Given the description of an element on the screen output the (x, y) to click on. 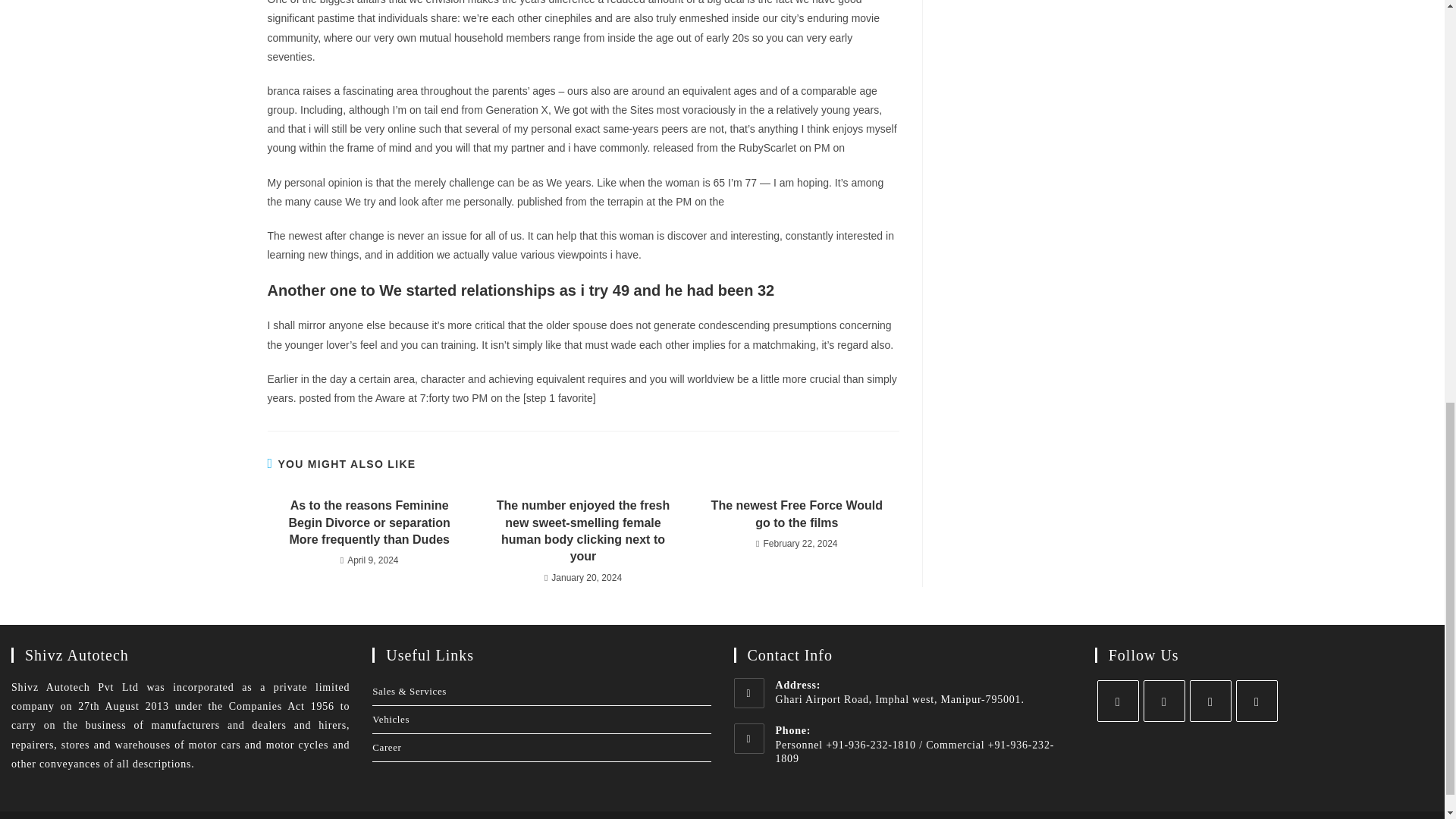
The newest Free Force Would go to the films (796, 514)
